Given the description of an element on the screen output the (x, y) to click on. 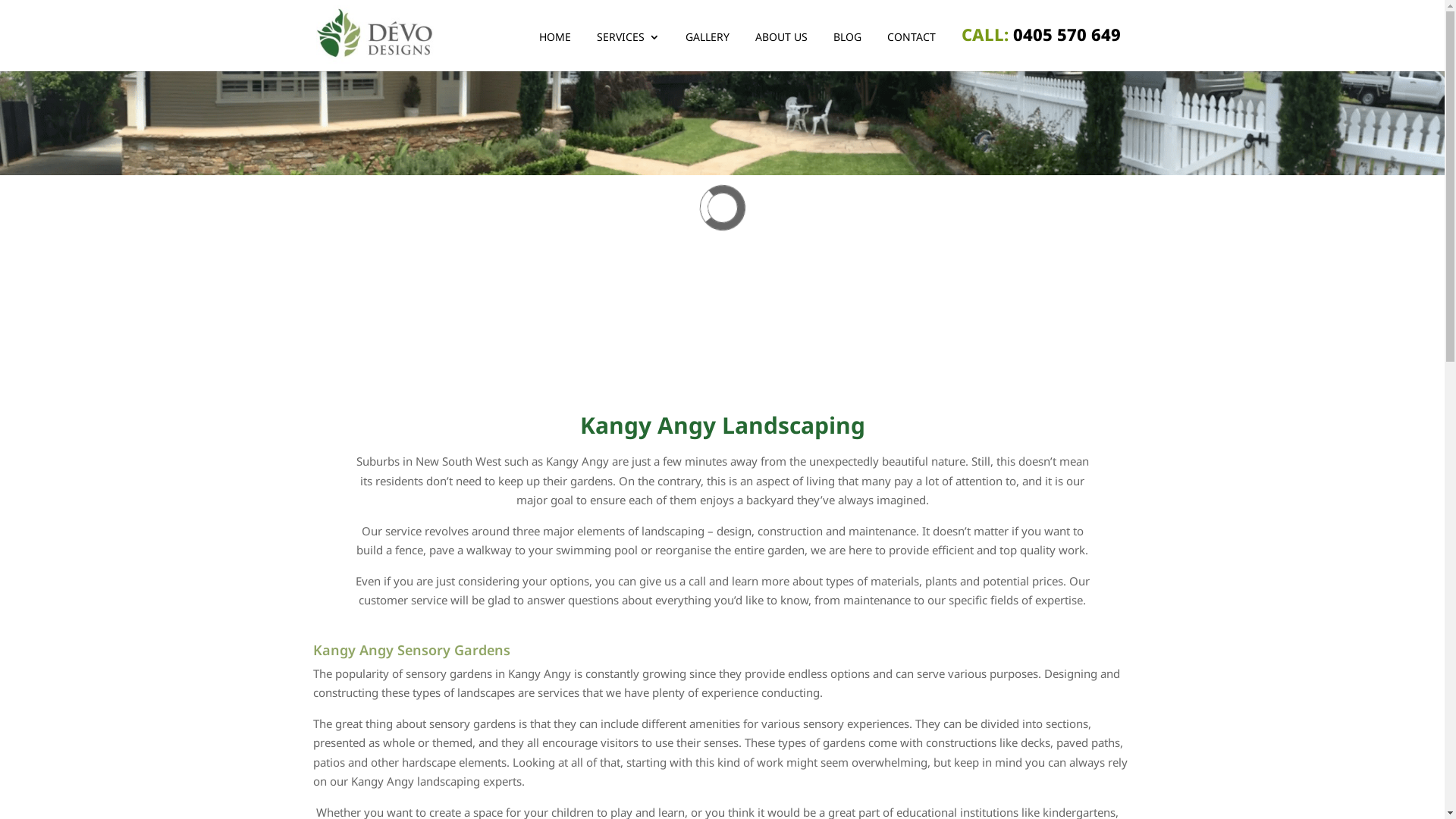
CALL: 0405 570 649 Element type: text (1040, 48)
CONTACT Element type: text (911, 51)
HOME Element type: text (554, 51)
SERVICES Element type: text (627, 51)
BLOG Element type: text (846, 51)
ABOUT US Element type: text (781, 51)
GALLERY Element type: text (707, 51)
